Given the description of an element on the screen output the (x, y) to click on. 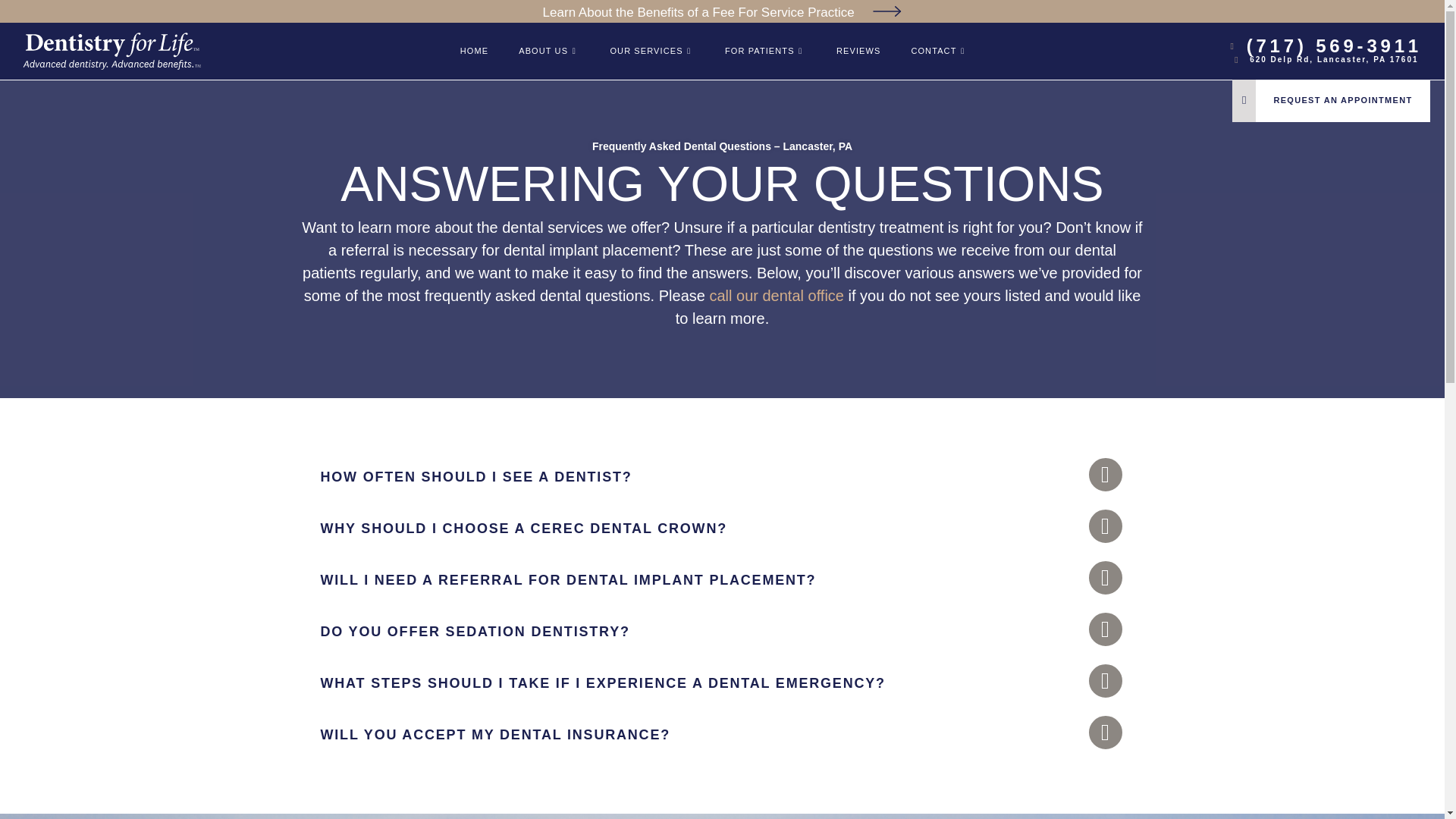
HOME (474, 51)
CONTACT (938, 51)
Learn About the Benefits of a Fee For Service Practice (722, 11)
Dentist Lancaster, PA (474, 51)
REVIEWS (858, 51)
FOR PATIENTS (765, 51)
OUR SERVICES (652, 51)
ABOUT US (548, 51)
Dental Services (652, 51)
About Us (548, 51)
